Given the description of an element on the screen output the (x, y) to click on. 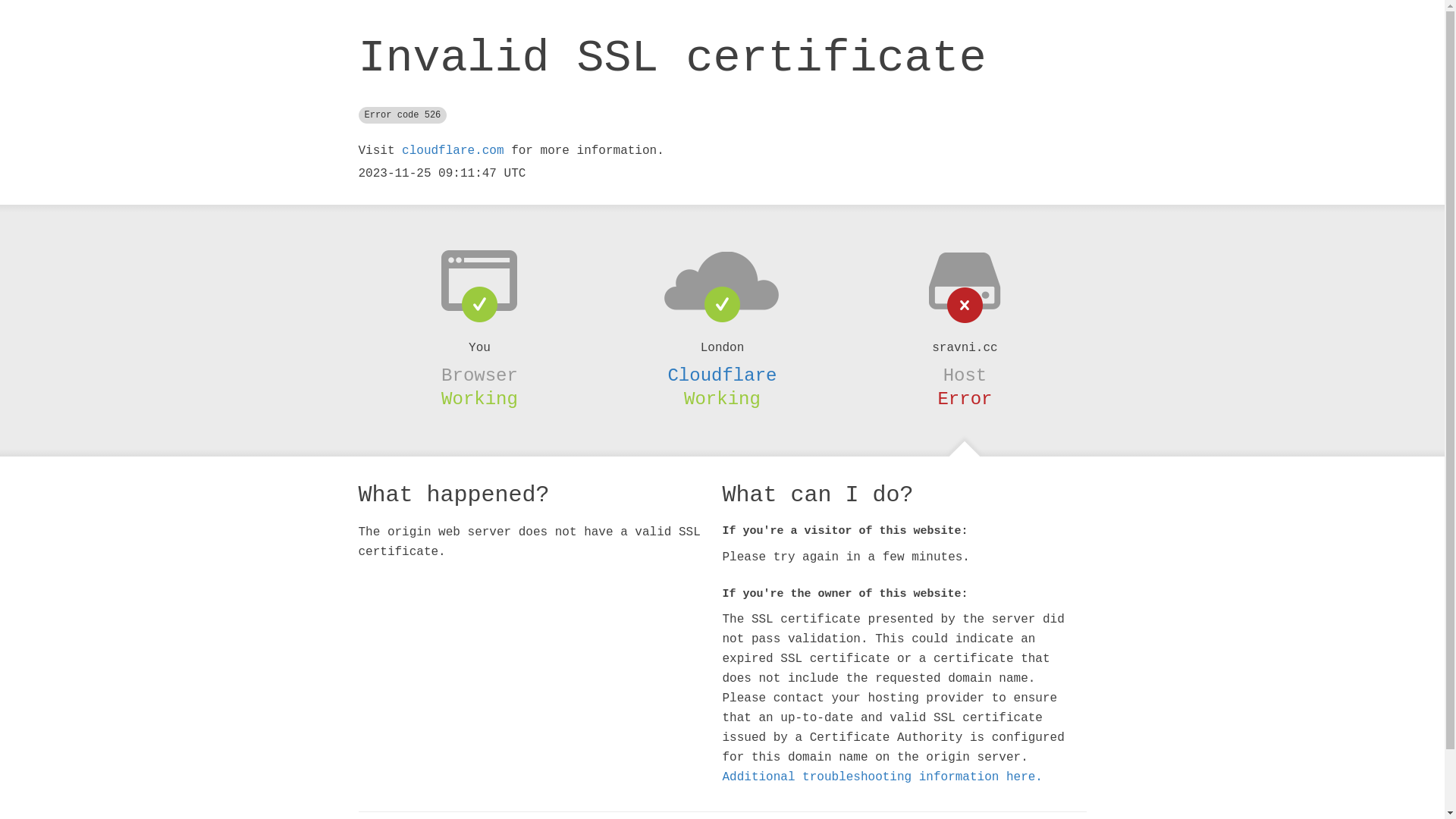
cloudflare.com Element type: text (452, 150)
Additional troubleshooting information here. Element type: text (881, 777)
Cloudflare Element type: text (721, 375)
